Given the description of an element on the screen output the (x, y) to click on. 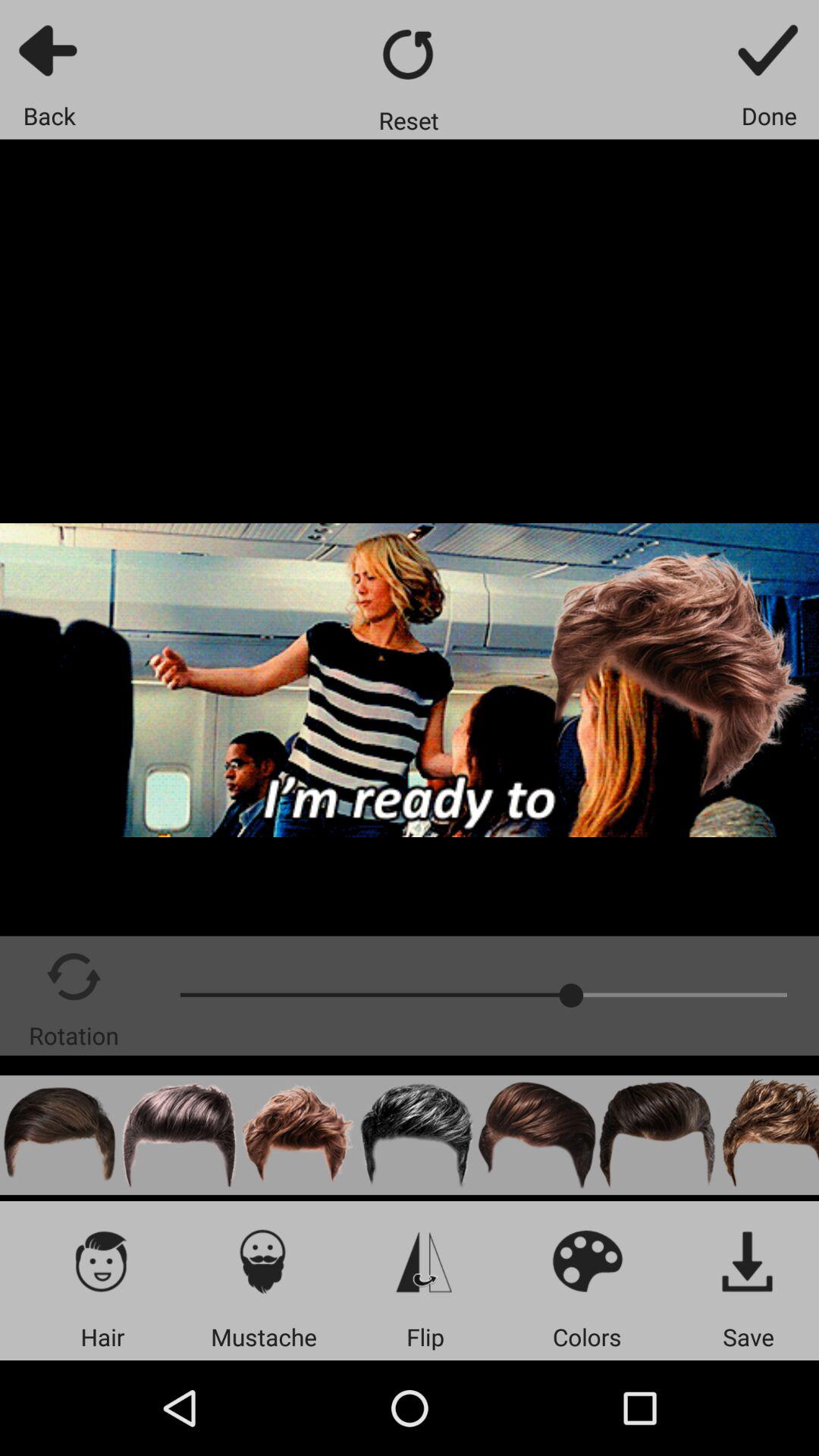
flip image (425, 1260)
